Given the description of an element on the screen output the (x, y) to click on. 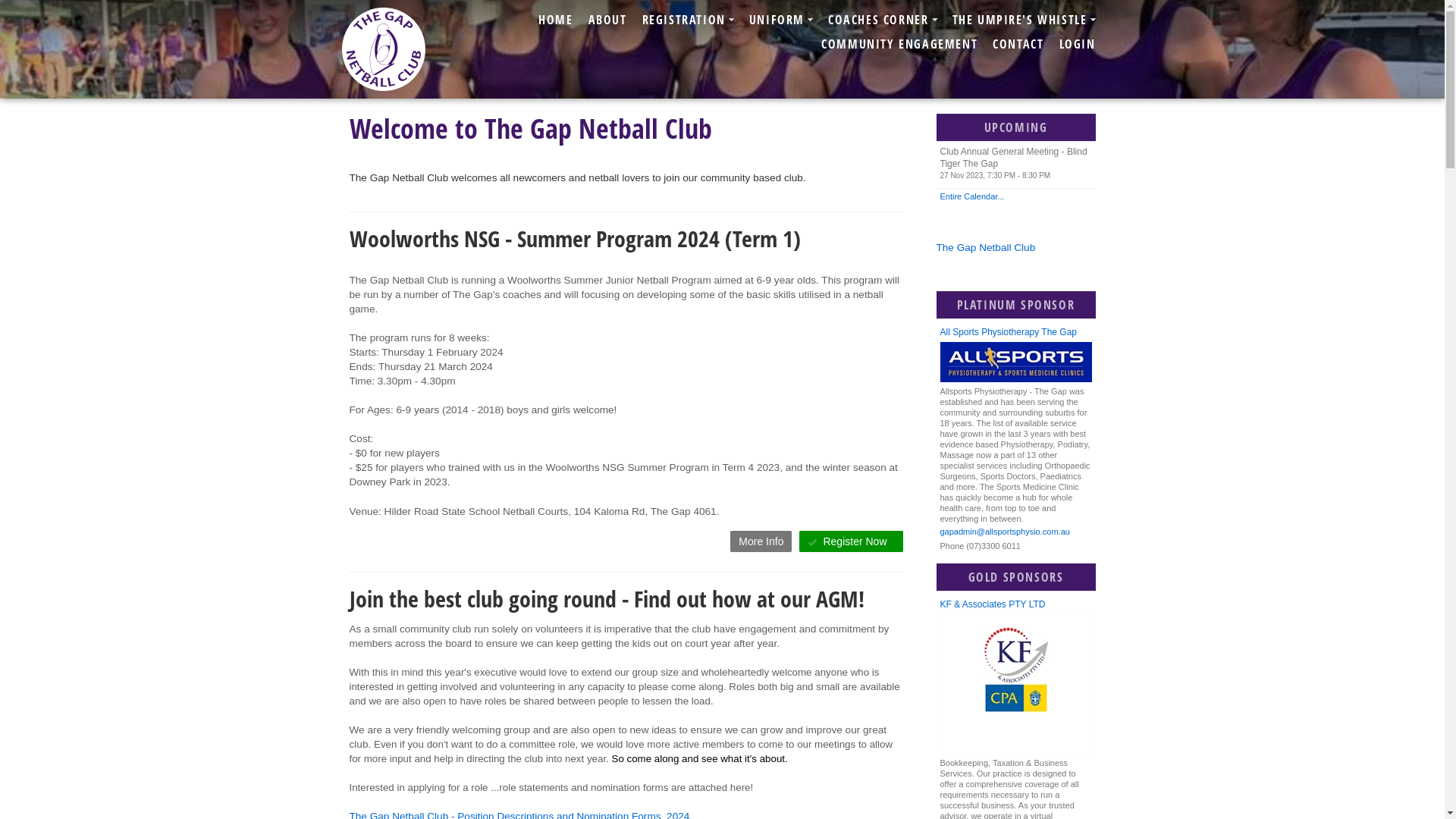
gapadmin@allsportsphysio.com.au Element type: text (1016, 532)
UNIFORM Element type: text (780, 19)
ABOUT Element type: text (607, 19)
CONTACT Element type: text (1018, 43)
KF & Associates PTY LTD Element type: text (1016, 605)
The Gap Netball Club Element type: text (985, 247)
LOGIN Element type: text (1076, 43)
HOME Element type: text (555, 19)
THE UMPIRE'S WHISTLE Element type: text (1023, 19)
Register Now Element type: text (850, 541)
More Info Element type: text (760, 541)
COACHES CORNER Element type: text (882, 19)
All Sports Physiotherapy The Gap Element type: text (1016, 332)
COMMUNITY ENGAGEMENT Element type: text (899, 43)
Entire Calendar... Element type: text (1015, 196)
REGISTRATION Element type: text (687, 19)
